Given the description of an element on the screen output the (x, y) to click on. 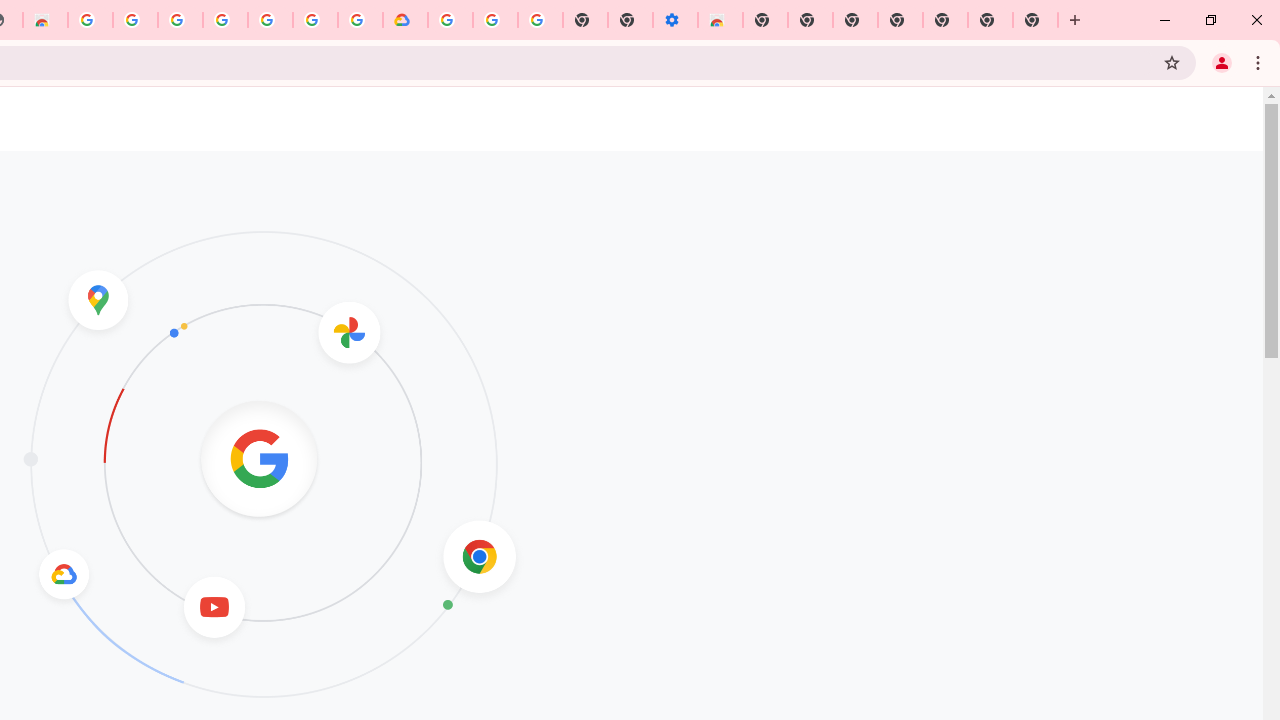
Turn cookies on or off - Computer - Google Account Help (540, 20)
New Tab (765, 20)
Ad Settings (134, 20)
Sign in - Google Accounts (450, 20)
Chrome Web Store - Accessibility extensions (720, 20)
Settings - Accessibility (674, 20)
